Given the description of an element on the screen output the (x, y) to click on. 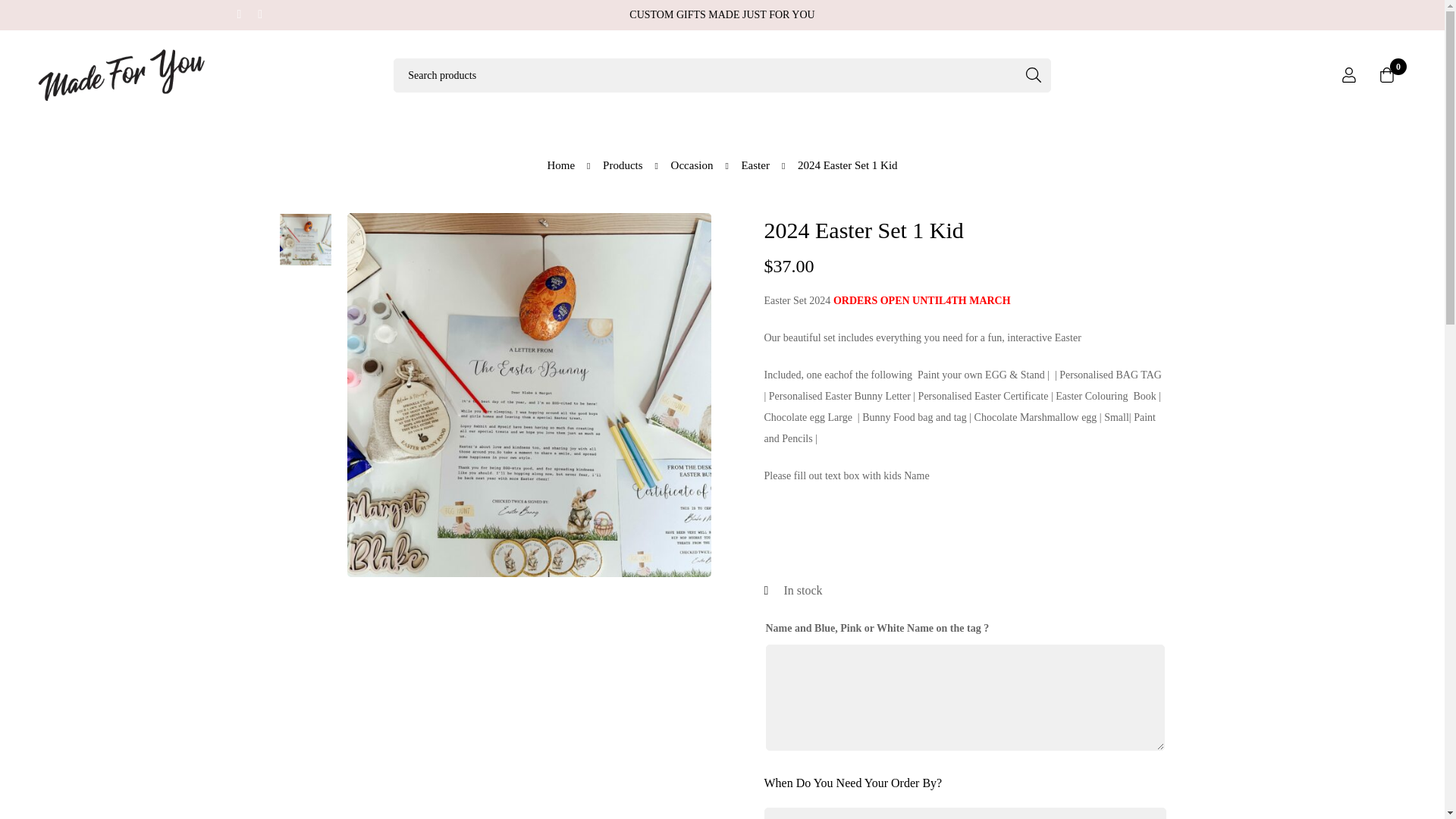
Search for: (721, 75)
0 (1387, 74)
